Given the description of an element on the screen output the (x, y) to click on. 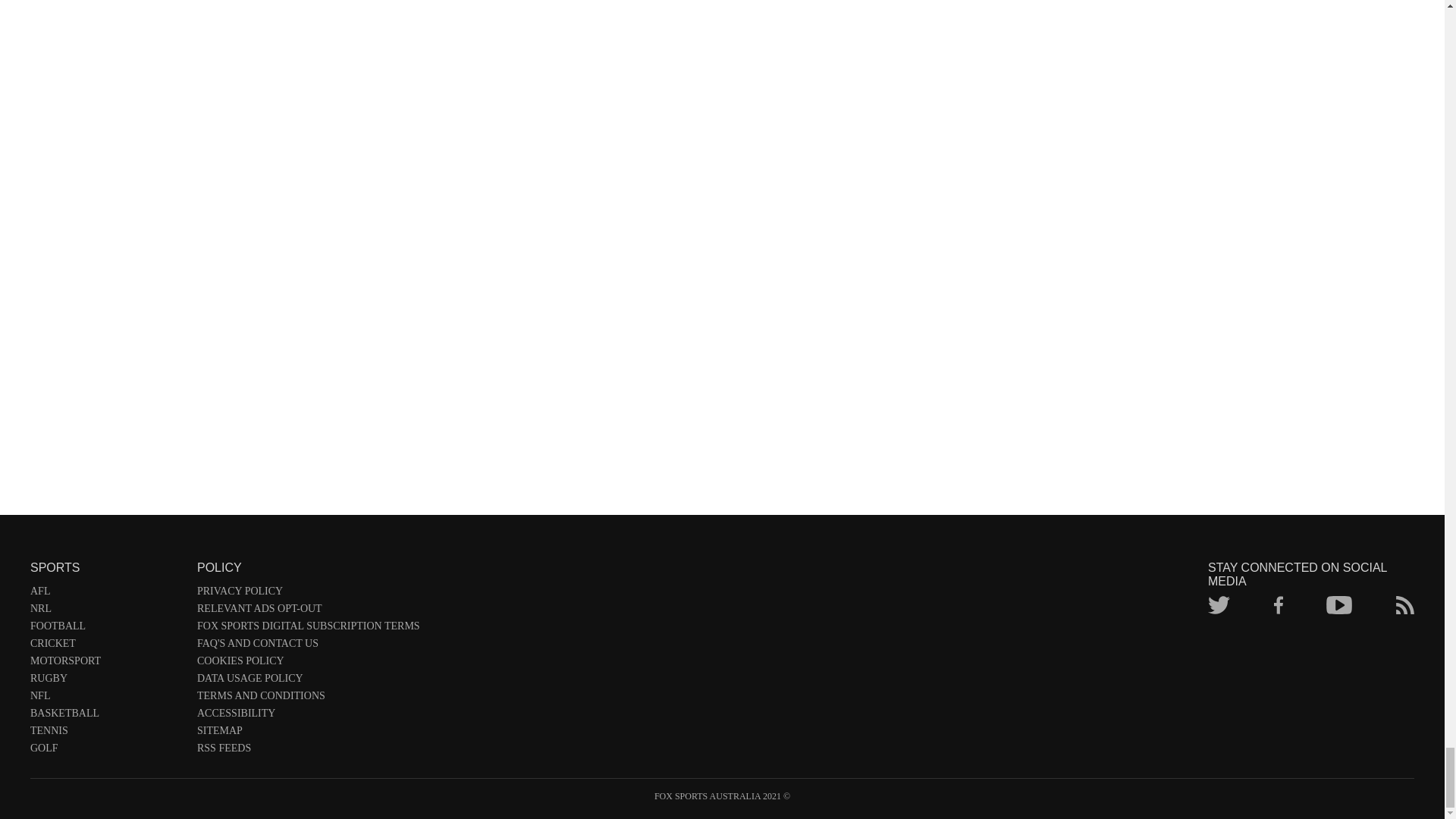
PRIVACY POLICY (308, 593)
MOTORSPORT (106, 663)
DATA USAGE POLICY (308, 681)
RSS FEEDS (308, 751)
SITEMAP (308, 733)
TENNIS (106, 733)
RELEVANT ADS OPT-OUT (308, 610)
NRL (106, 610)
CRICKET (106, 646)
FAQ'S AND CONTACT US (308, 646)
